Given the description of an element on the screen output the (x, y) to click on. 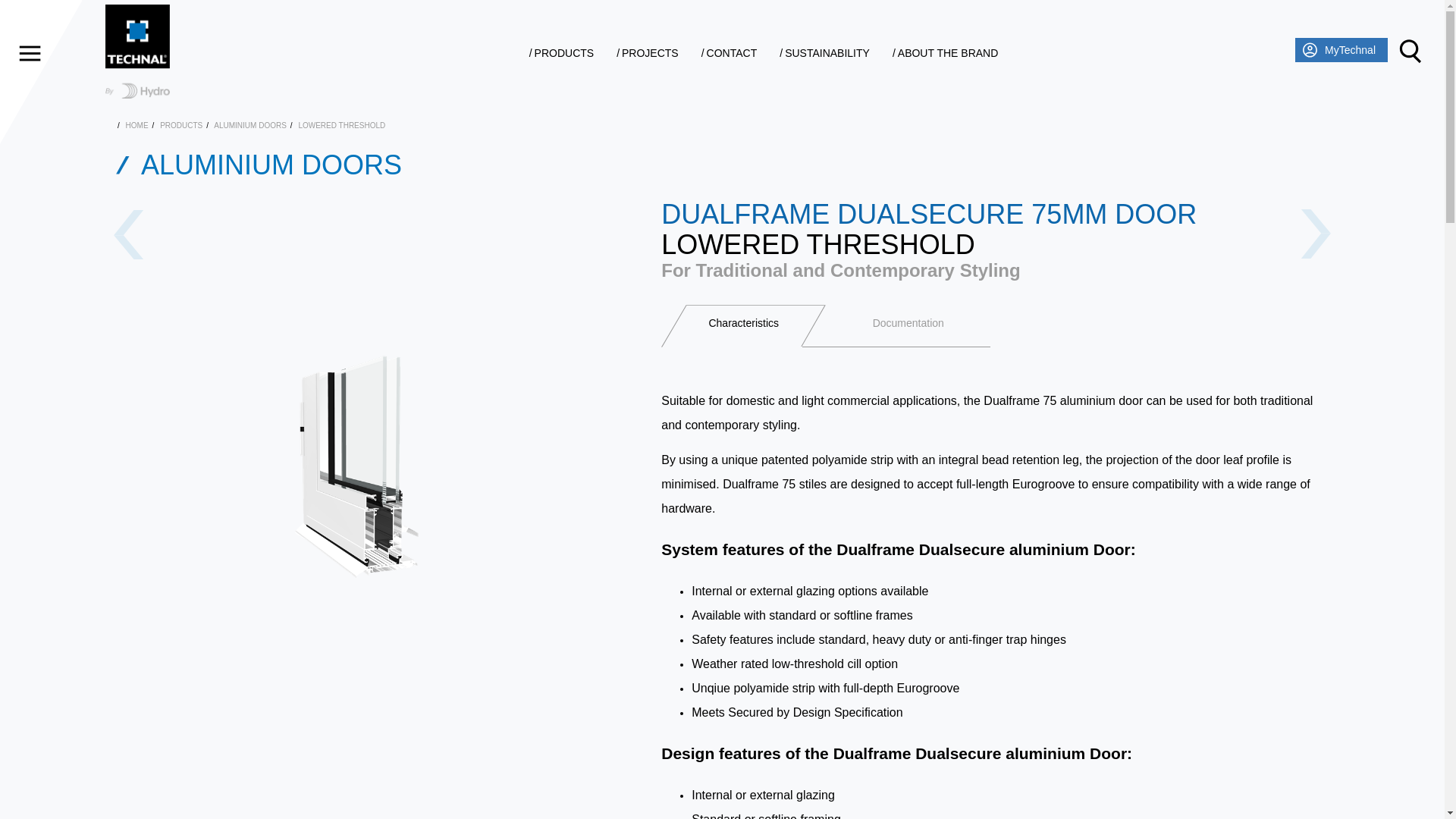
PROJECTS (646, 52)
PRODUCTS (561, 52)
CONTACT (729, 52)
ABOUT THE BRAND (944, 52)
HOME (136, 125)
MyTechnal (1341, 49)
MyTechnal (1350, 50)
ALUMINIUM DOORS (250, 125)
SUSTAINABILITY (823, 52)
PRODUCTS (181, 125)
